Given the description of an element on the screen output the (x, y) to click on. 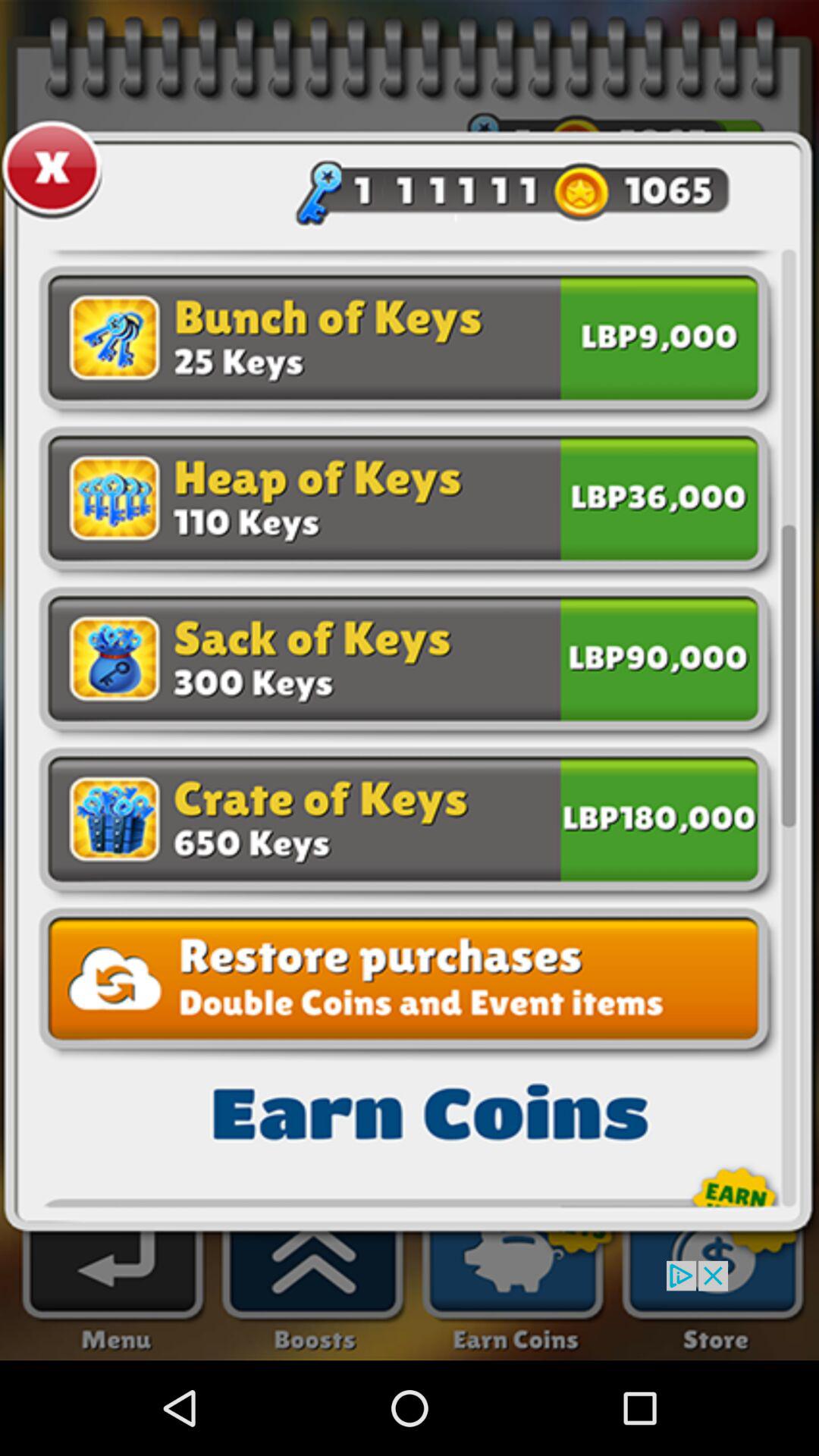
choose price option (659, 816)
